Given the description of an element on the screen output the (x, y) to click on. 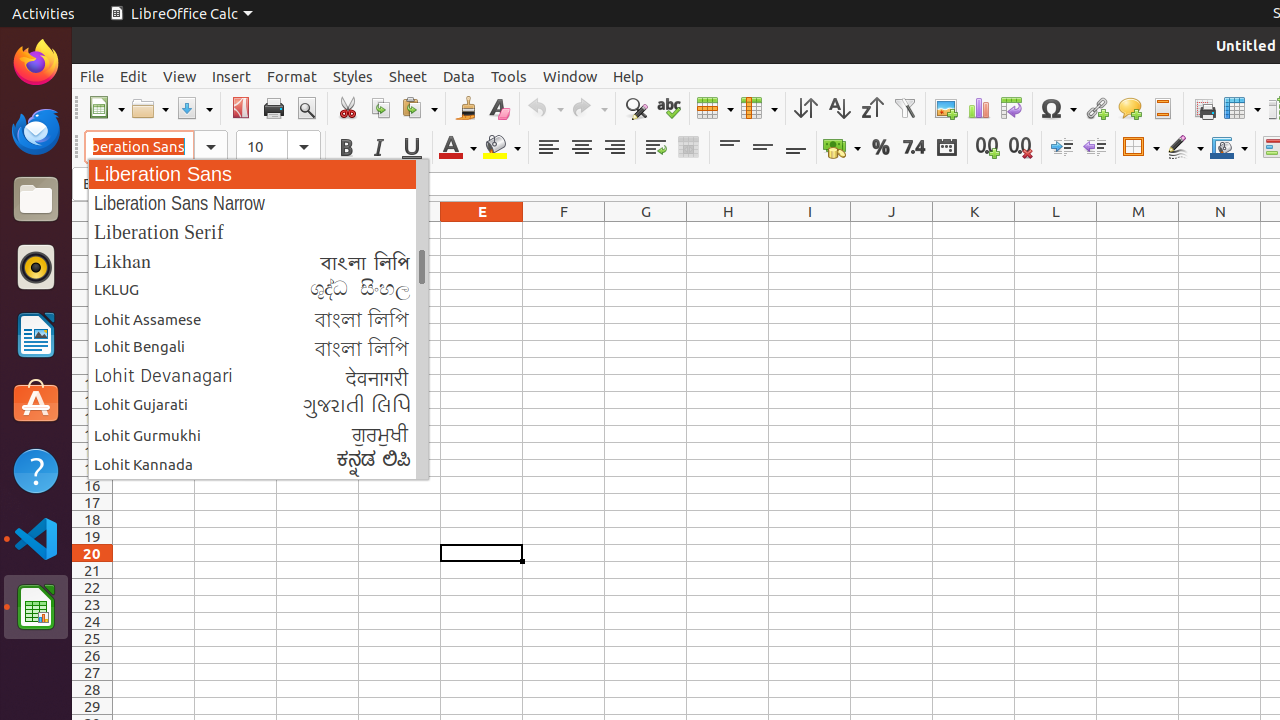
Visual Studio Code Element type: push-button (36, 538)
Decrease Element type: push-button (1094, 147)
AutoFilter Element type: push-button (904, 108)
Background Color Element type: push-button (502, 147)
LibreOffice Calc Element type: push-button (36, 607)
